Given the description of an element on the screen output the (x, y) to click on. 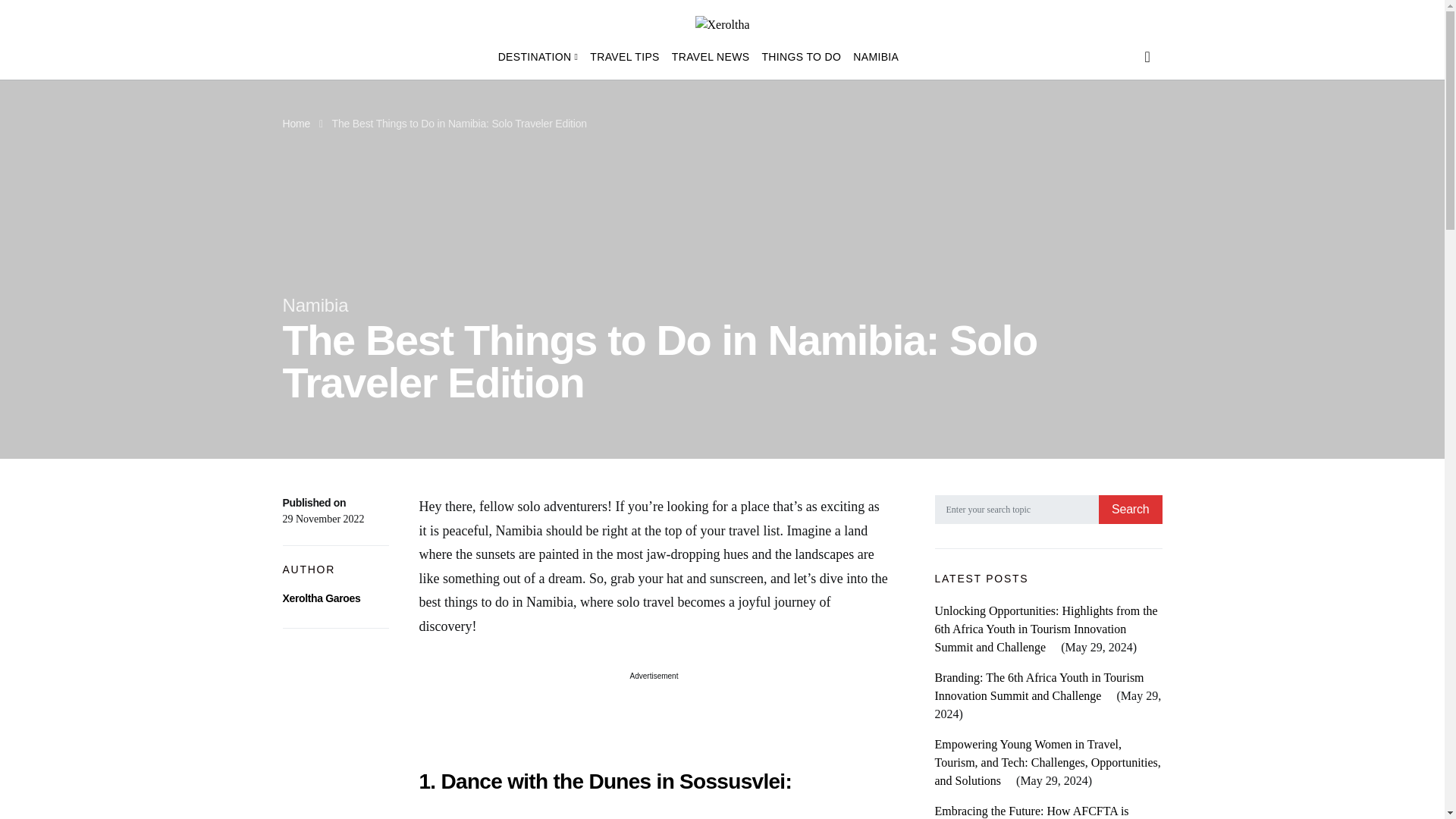
THINGS TO DO (801, 56)
NAMIBIA (872, 56)
DESTINATION (541, 56)
Xeroltha Garoes (320, 598)
TRAVEL NEWS (710, 56)
Home (296, 123)
Namibia (314, 304)
TRAVEL TIPS (624, 56)
Search (1130, 509)
